Given the description of an element on the screen output the (x, y) to click on. 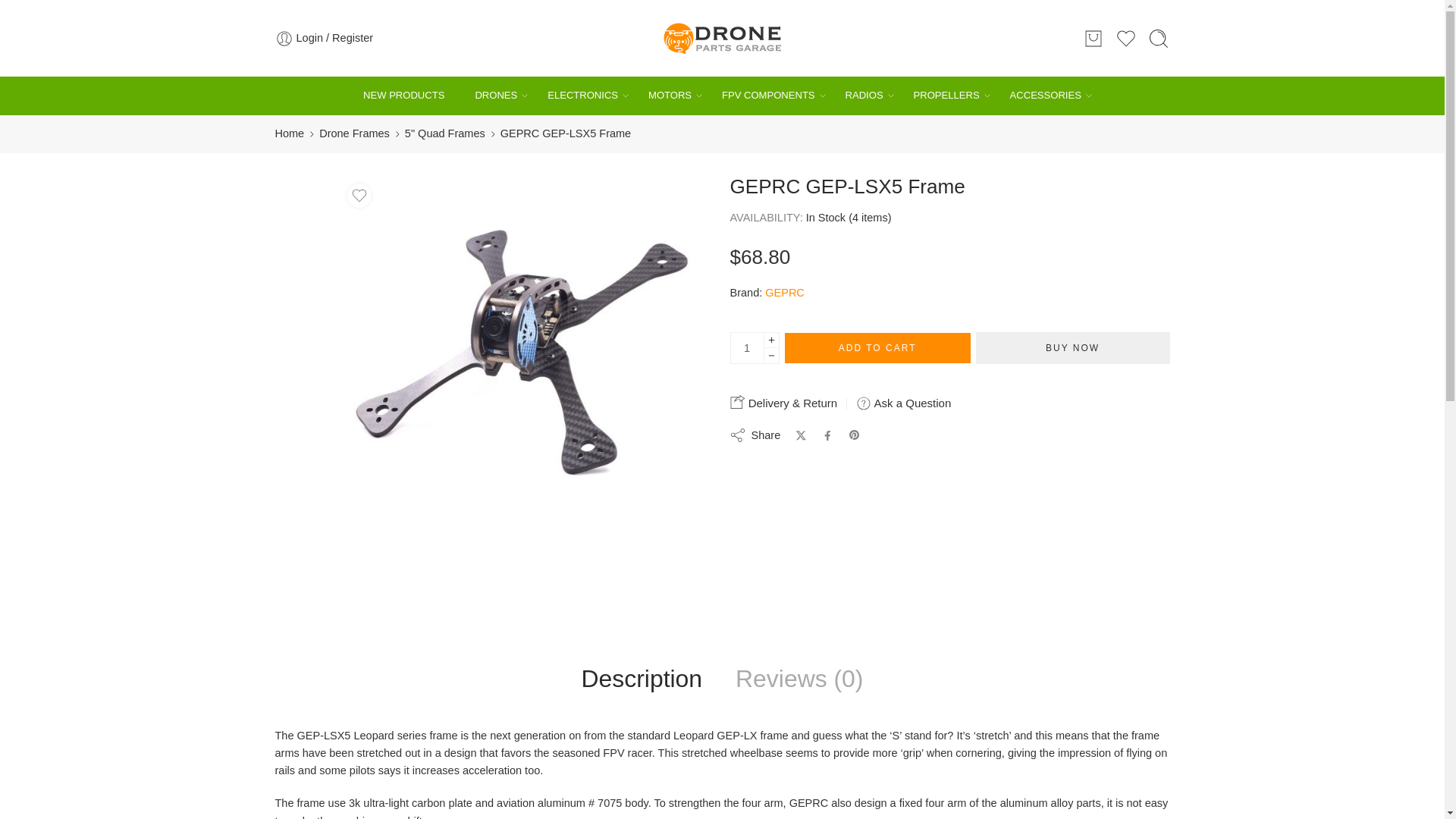
RADIOS (864, 95)
NEW PRODUCTS (403, 95)
MOTORS (669, 95)
Cart (1093, 37)
FPV COMPONENTS (768, 95)
DRONES (495, 95)
5" Quad Frames (444, 133)
ADD TO CART (877, 347)
MOTORS (669, 95)
ACCESSORIES (1045, 95)
